Given the description of an element on the screen output the (x, y) to click on. 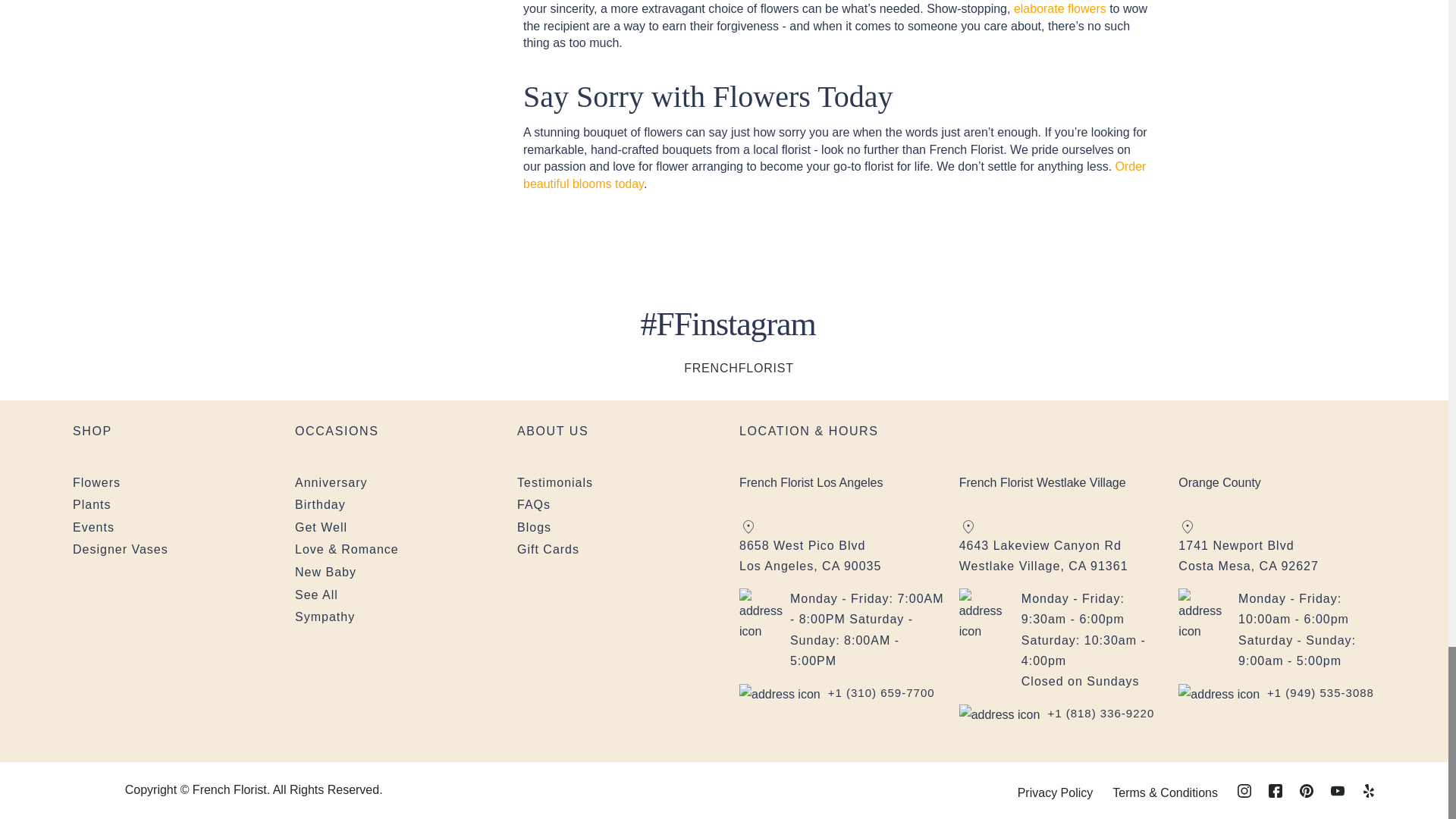
instagram icon (667, 367)
